Given the description of an element on the screen output the (x, y) to click on. 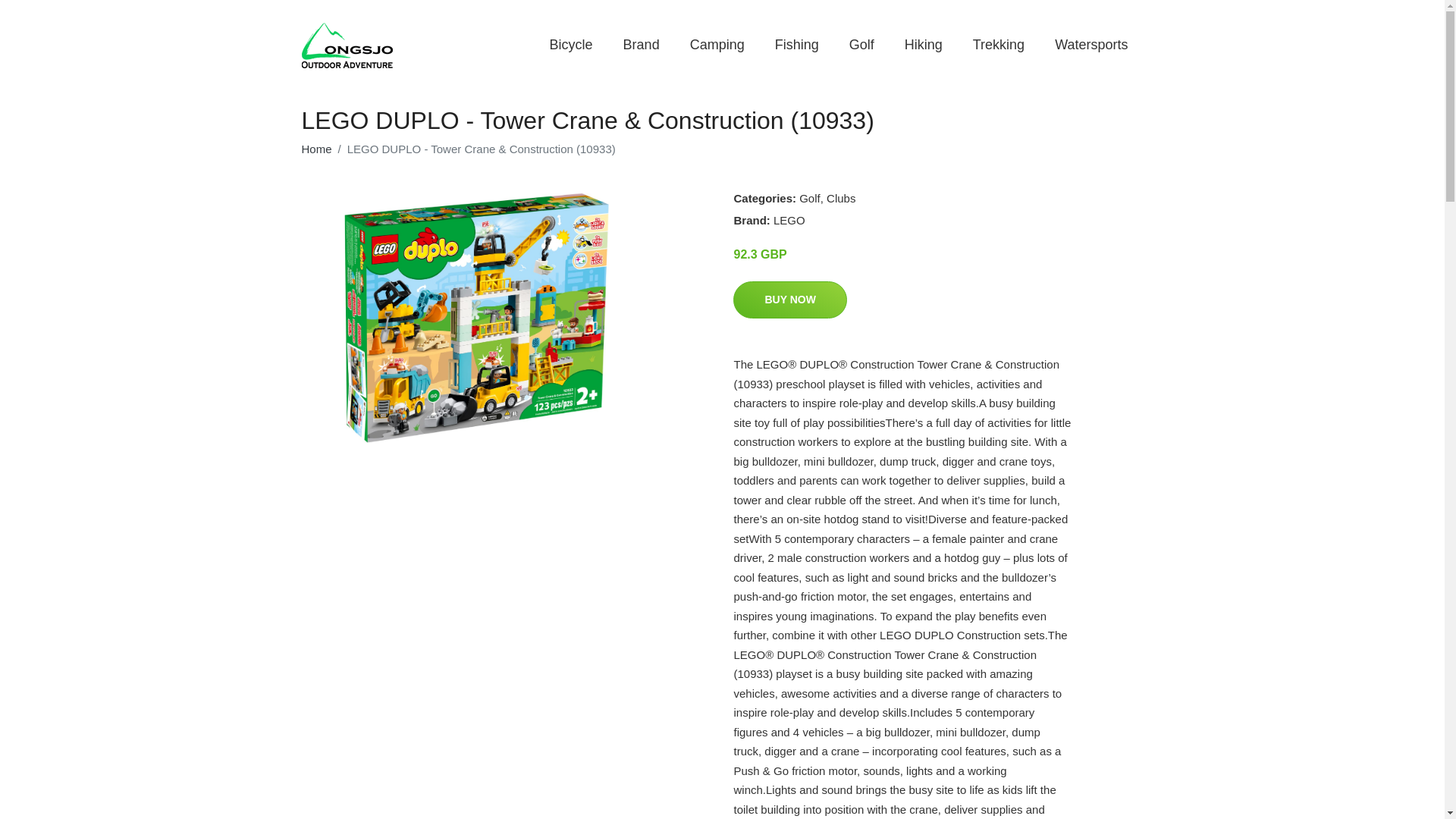
Brand (641, 44)
Bicycle (571, 44)
Camping (717, 44)
Clubs (841, 197)
BUY NOW (789, 299)
Watersports (1090, 44)
Trekking (998, 44)
Home (316, 148)
Golf (861, 44)
Golf (810, 197)
